Given the description of an element on the screen output the (x, y) to click on. 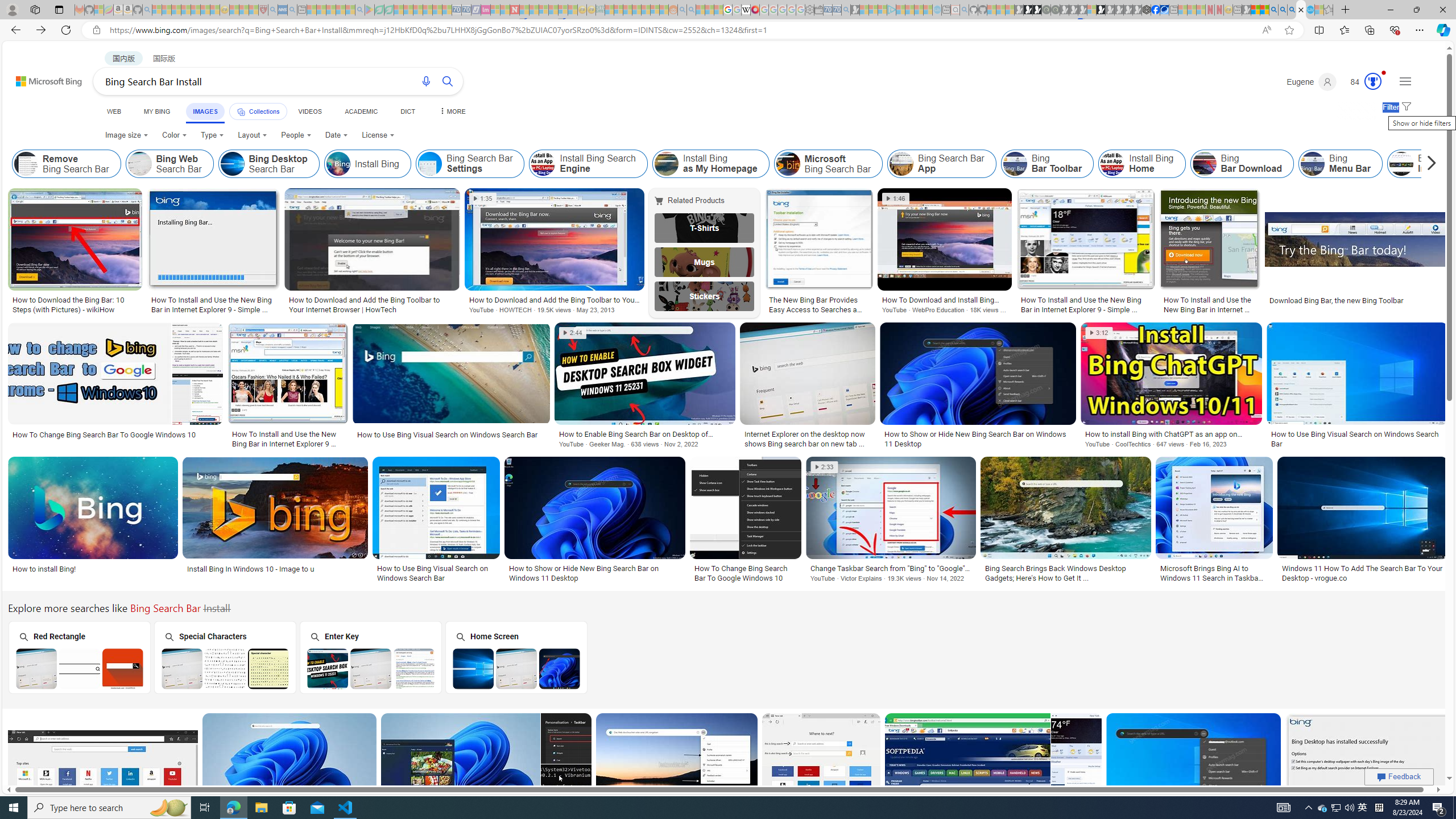
Download Bing Bar, the new Bing Toolbar (1336, 299)
Install Bing Search Engine (543, 163)
Microsoft Bing Search Bar (788, 163)
How To Change Bing Search Bar To Google Windows 10 (745, 573)
MY BING (156, 111)
Bing T-Shirts (704, 227)
